Given the description of an element on the screen output the (x, y) to click on. 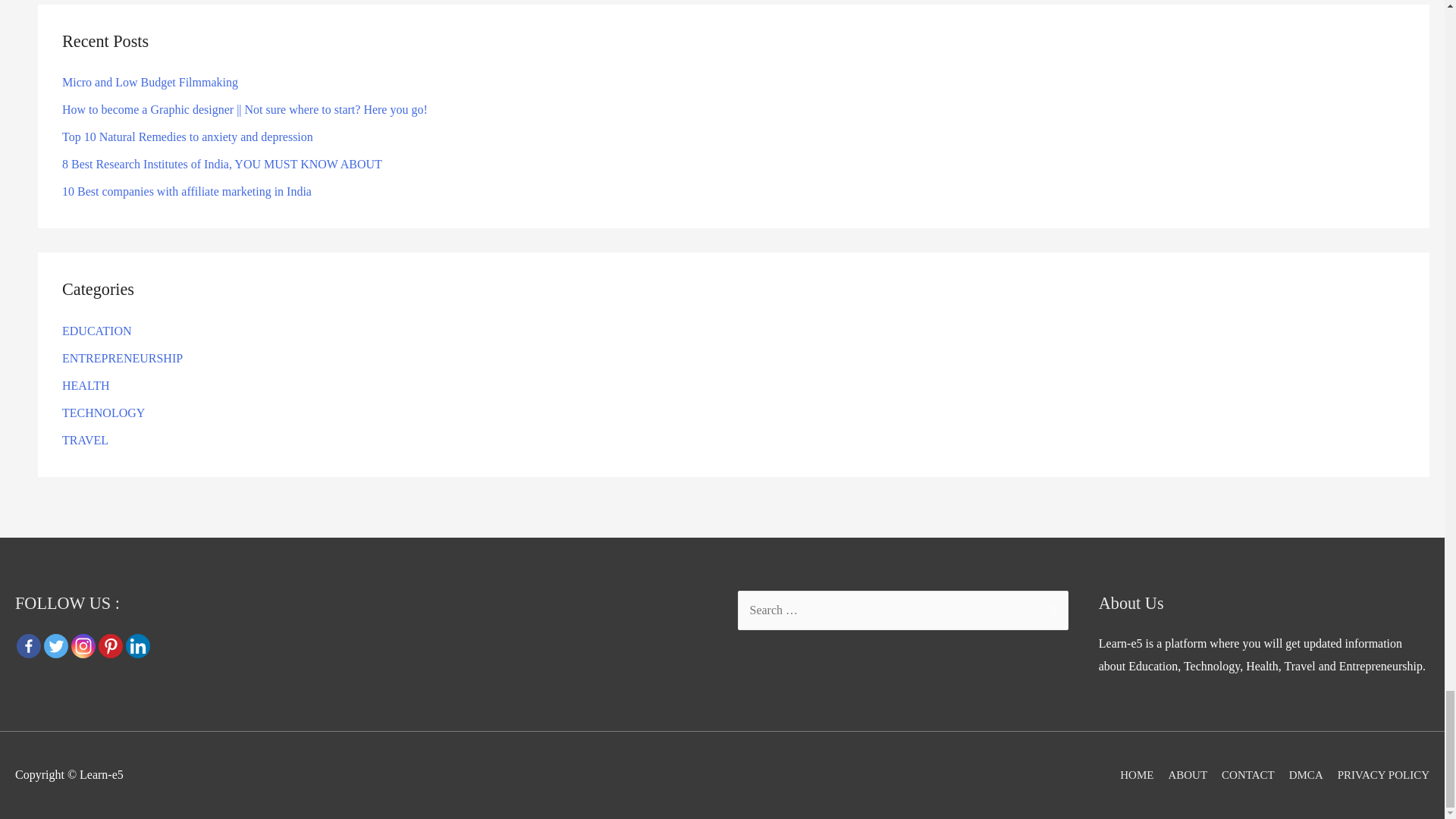
Facebook (28, 645)
linkedinCompany (137, 645)
Twitter (55, 645)
Instagram (83, 645)
Pinterest (110, 645)
